Given the description of an element on the screen output the (x, y) to click on. 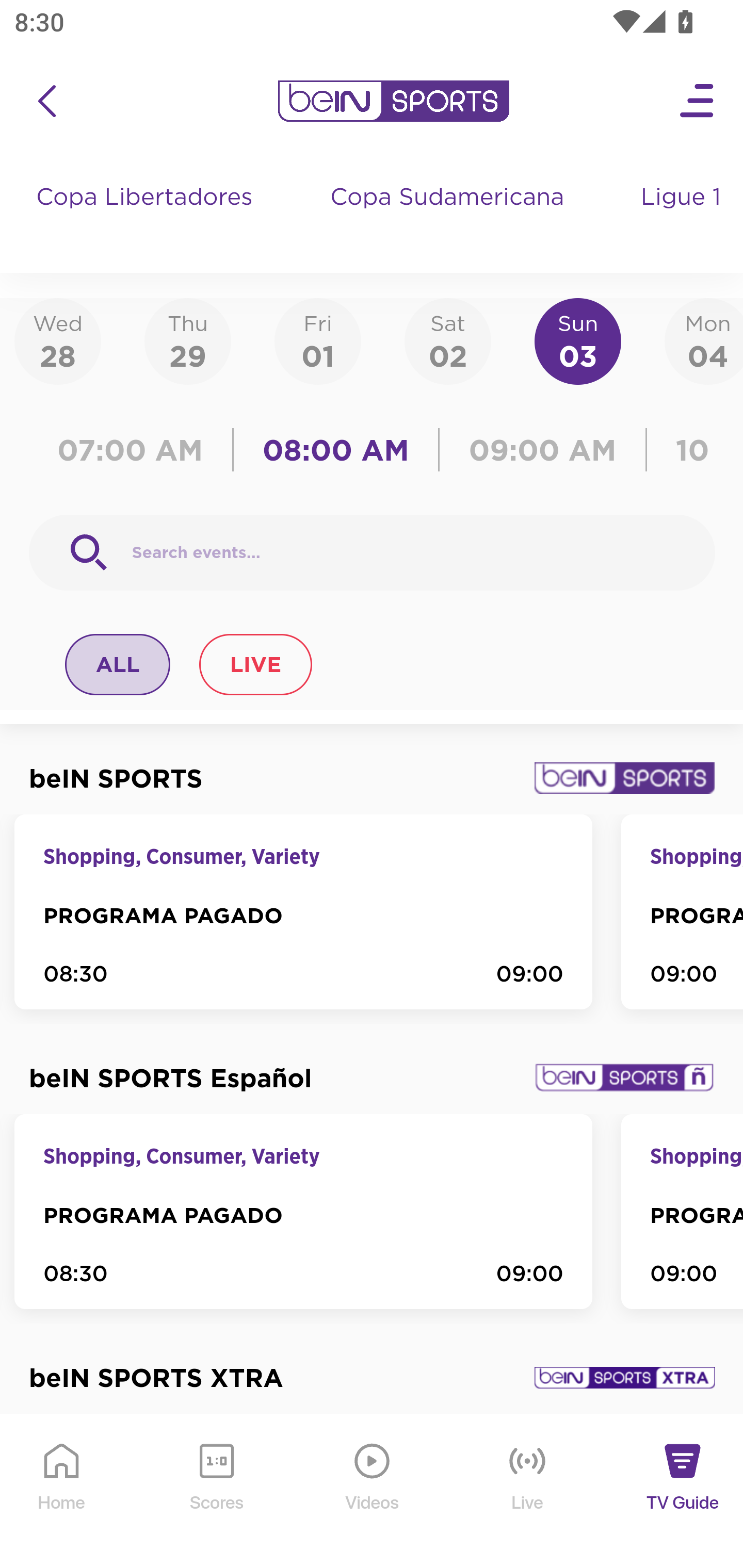
en-us?platform=mobile_android bein logo (392, 101)
icon back (46, 101)
Open Menu Icon (697, 101)
Copa Libertadores (146, 216)
Copa Sudamericana (448, 216)
Ligue 1 (682, 216)
Wed28 (58, 340)
Thu29 (187, 340)
Fri01 (318, 340)
Sat02 (447, 340)
Sun03 (578, 340)
Mon04 (703, 340)
07:00 AM (135, 449)
08:00 AM (336, 449)
09:00 AM (542, 449)
ALL (118, 663)
LIVE (255, 663)
Home Home Icon Home (61, 1491)
Scores Scores Icon Scores (216, 1491)
Videos Videos Icon Videos (372, 1491)
TV Guide TV Guide Icon TV Guide (682, 1491)
